Given the description of an element on the screen output the (x, y) to click on. 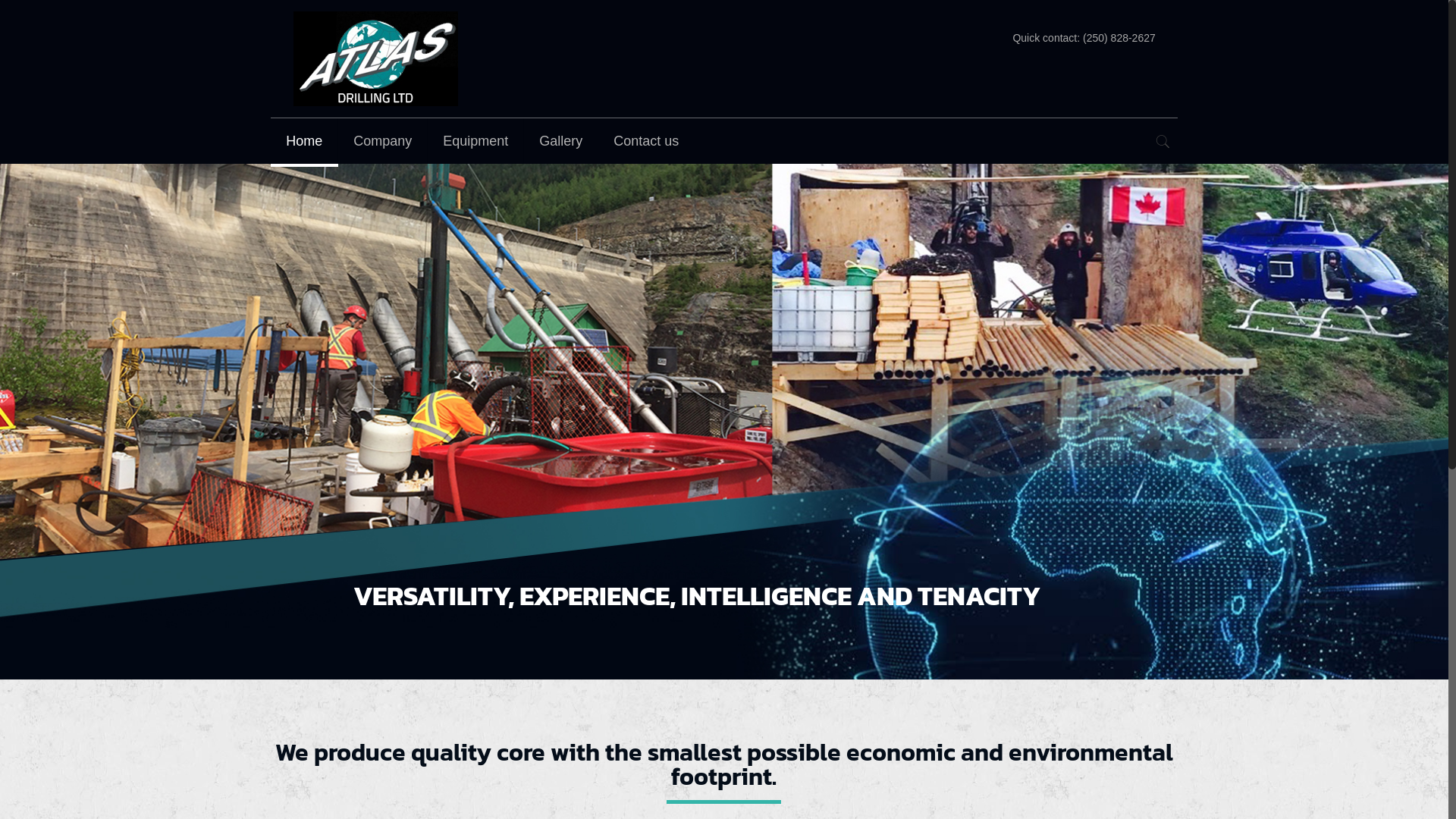
Company Element type: text (382, 140)
Quick contact: (250) 828-2627 Element type: text (1083, 37)
Home Element type: text (304, 140)
Contact us Element type: text (645, 140)
Atlas Drilling Ltd Element type: hover (375, 58)
Gallery Element type: text (561, 140)
Equipment Element type: text (475, 140)
